Given the description of an element on the screen output the (x, y) to click on. 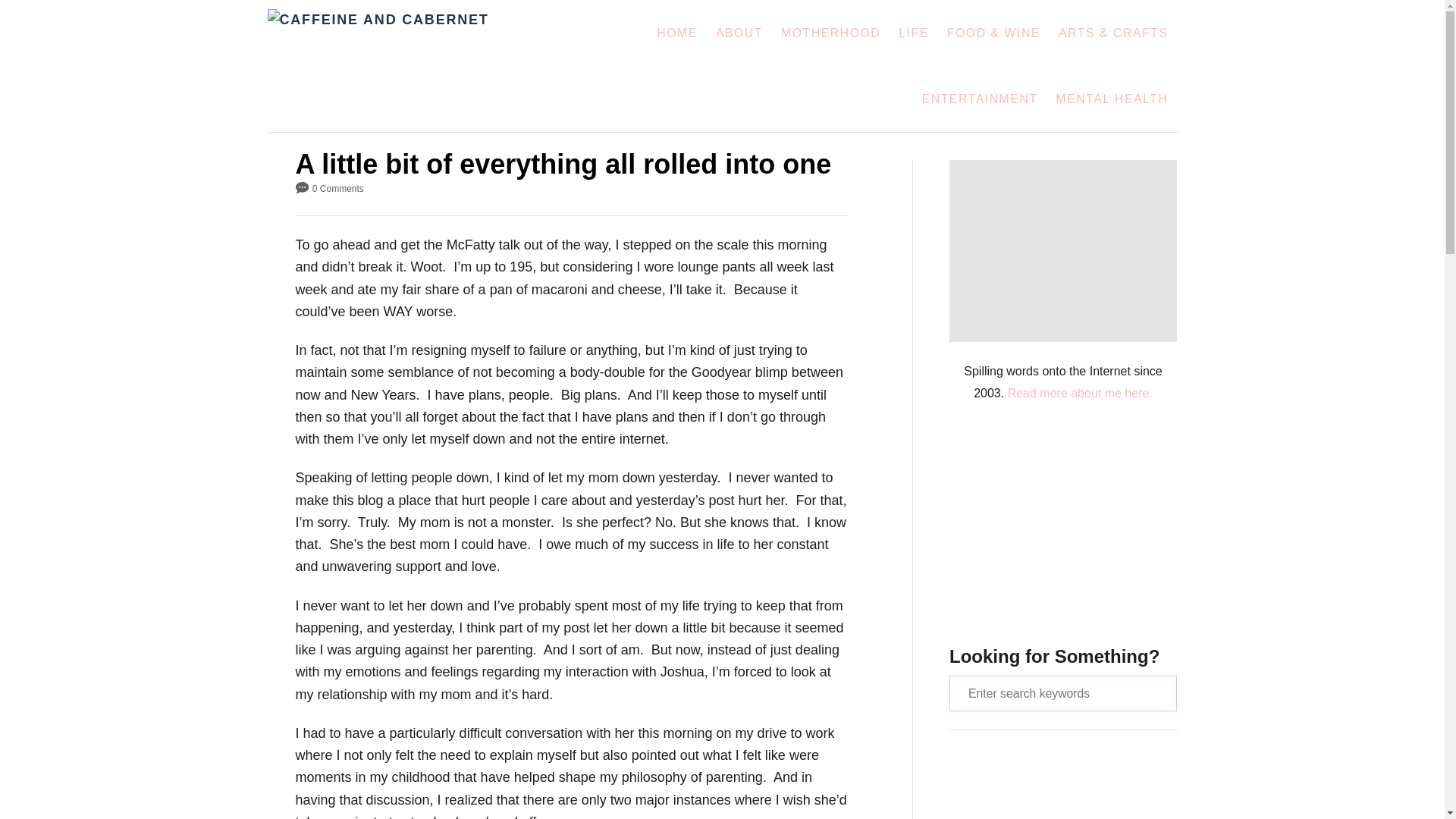
MENTAL HEALTH (1111, 99)
Caffeine and Cabernet (409, 65)
LIFE (913, 32)
Search (22, 22)
HOME (676, 32)
Read more about me here. (1080, 392)
ENTERTAINMENT (979, 99)
Search for: (1062, 692)
MOTHERHOOD (830, 32)
ABOUT (738, 32)
